Given the description of an element on the screen output the (x, y) to click on. 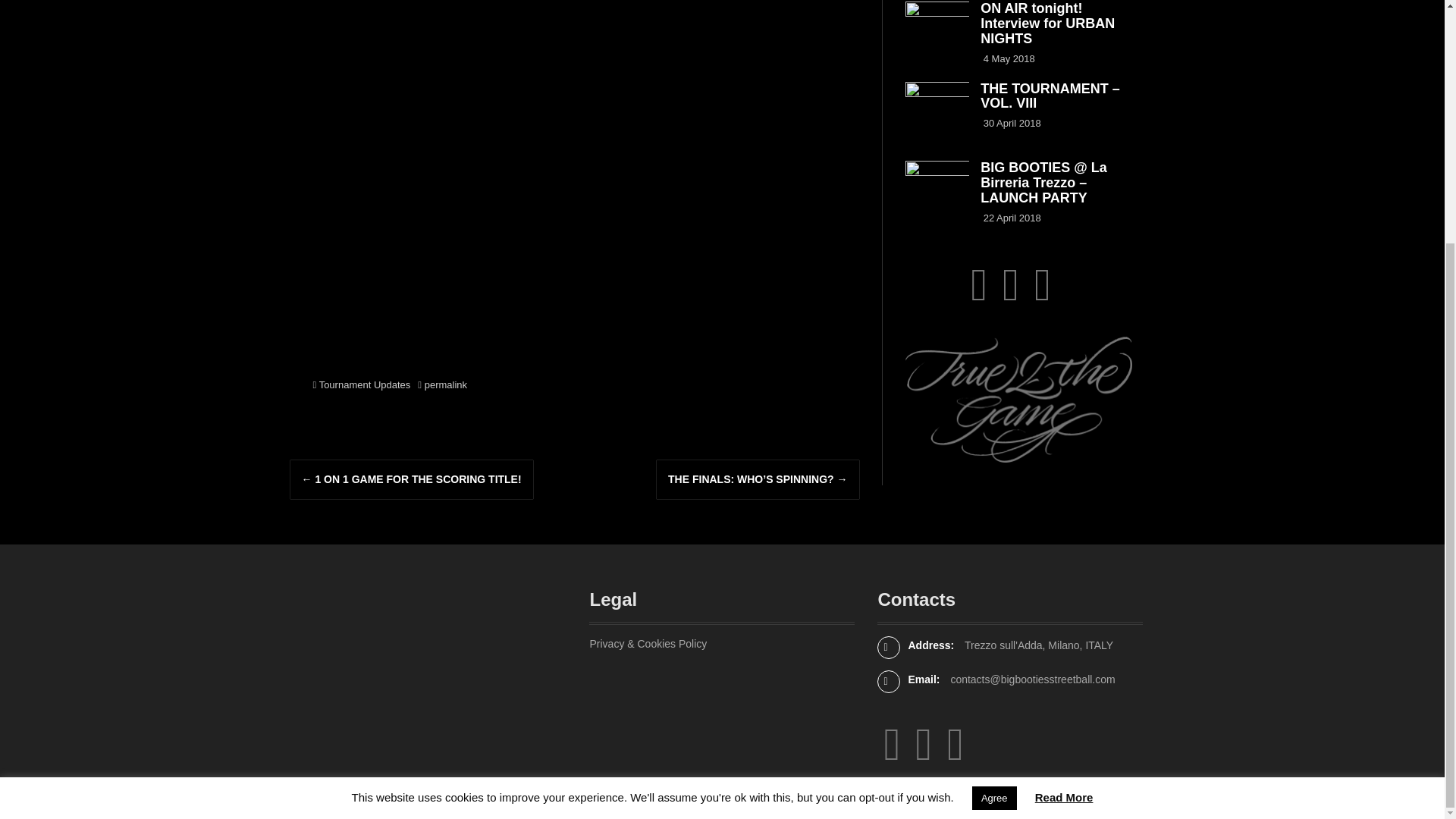
ON AIR tonight! Interview for URBAN NIGHTS (1047, 22)
Tournament Updates (364, 384)
Facebook (1042, 296)
Youtube (1011, 296)
permalink (444, 384)
Instagram (979, 296)
Agree (994, 461)
Youtube (923, 756)
Instagram (891, 756)
Facebook (955, 756)
